Given the description of an element on the screen output the (x, y) to click on. 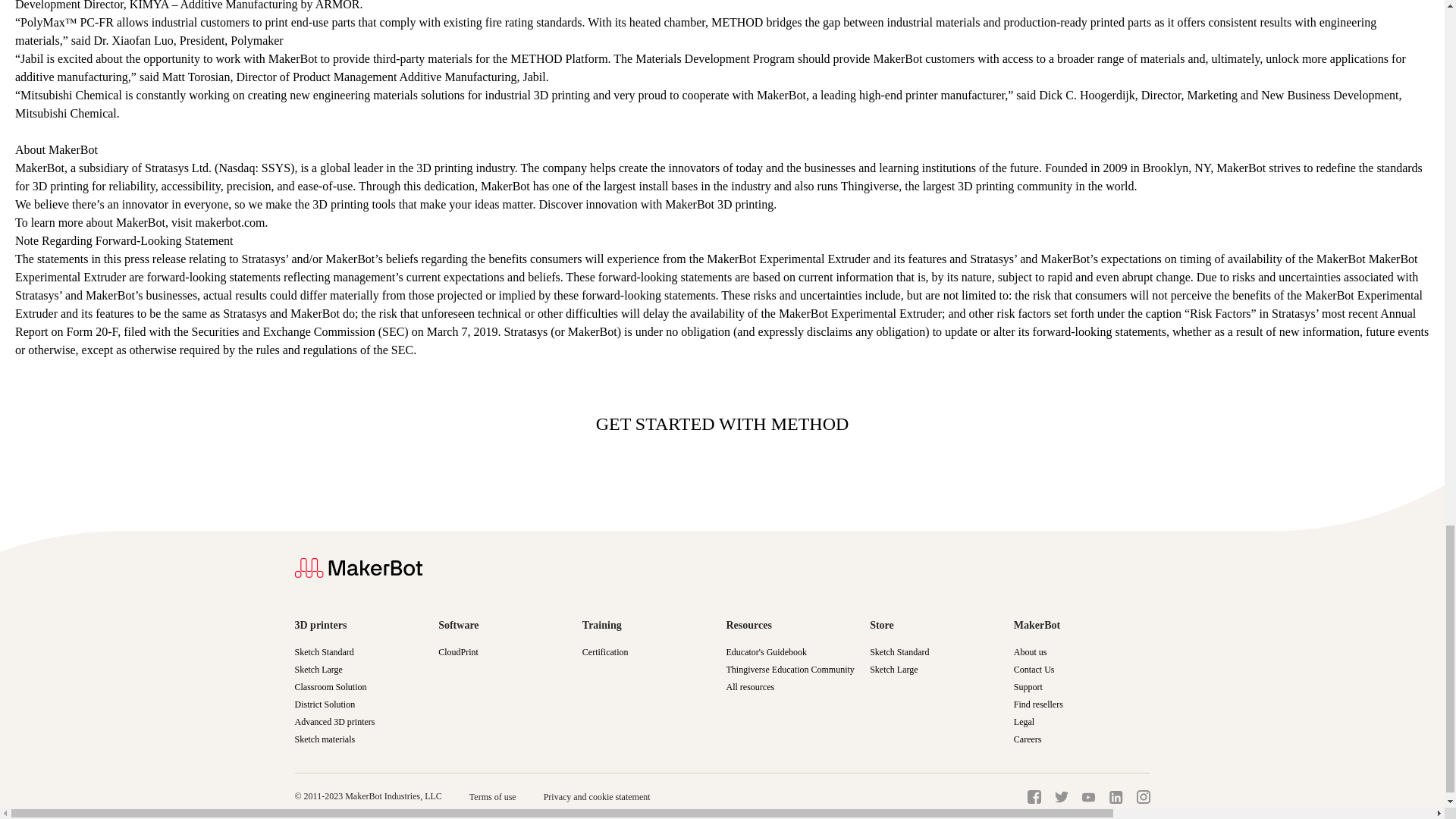
Twitter (1060, 797)
Facebook (1033, 796)
LinkedIn (1115, 797)
Instagram (1142, 796)
Youtube (1087, 797)
